Given the description of an element on the screen output the (x, y) to click on. 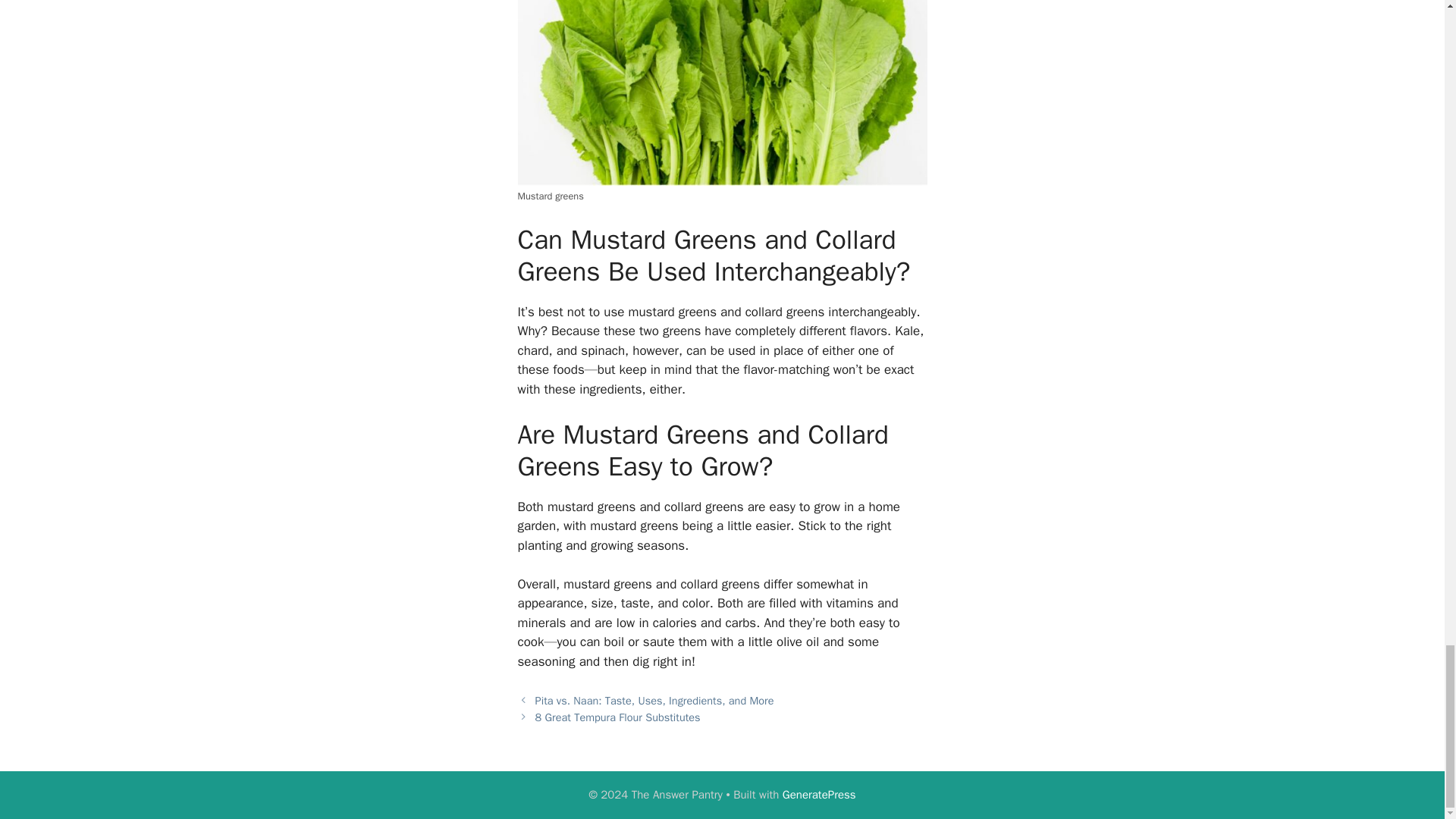
8 Great Tempura Flour Substitutes (617, 716)
GeneratePress (819, 794)
Pita vs. Naan: Taste, Uses, Ingredients, and More (654, 700)
